Given the description of an element on the screen output the (x, y) to click on. 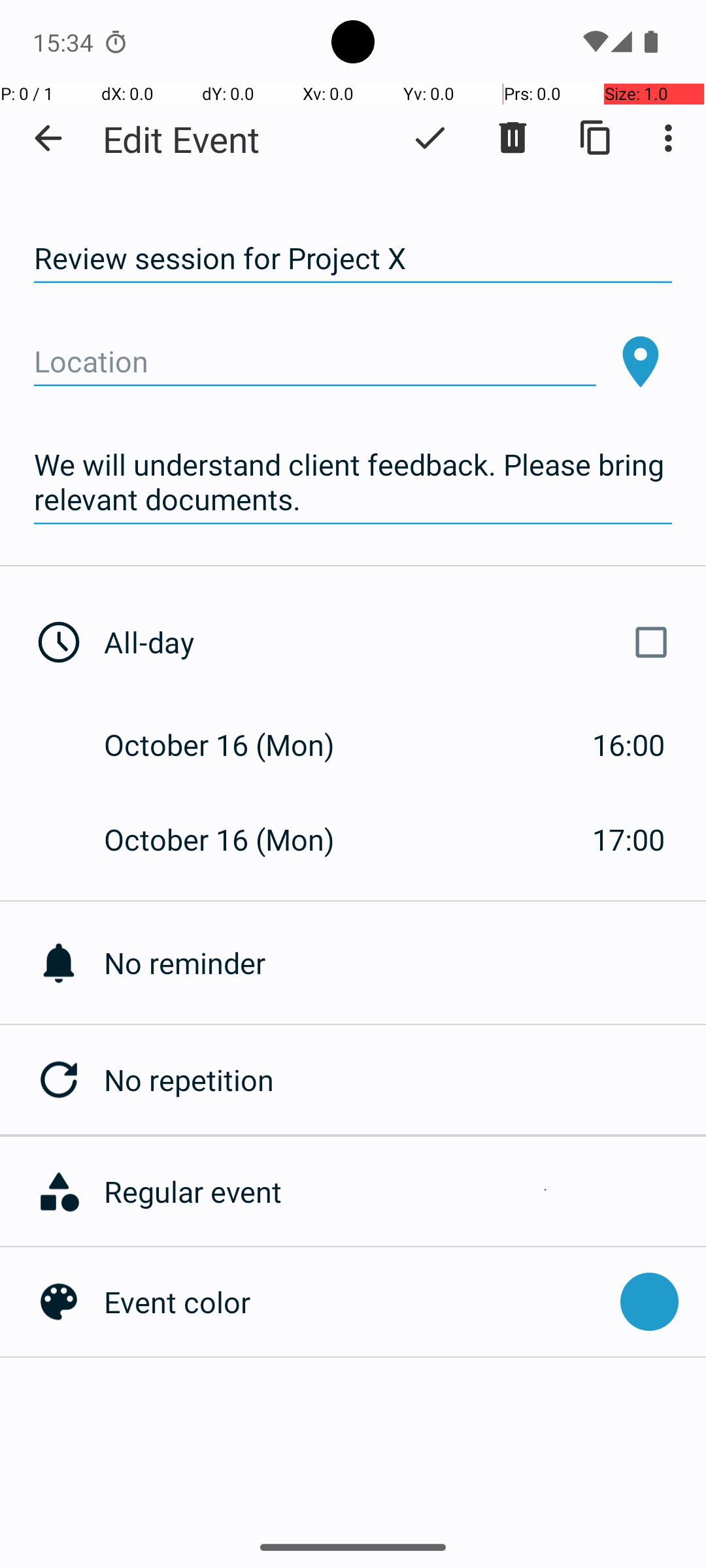
We will understand client feedback. Please bring relevant documents. Element type: android.widget.EditText (352, 482)
